Given the description of an element on the screen output the (x, y) to click on. 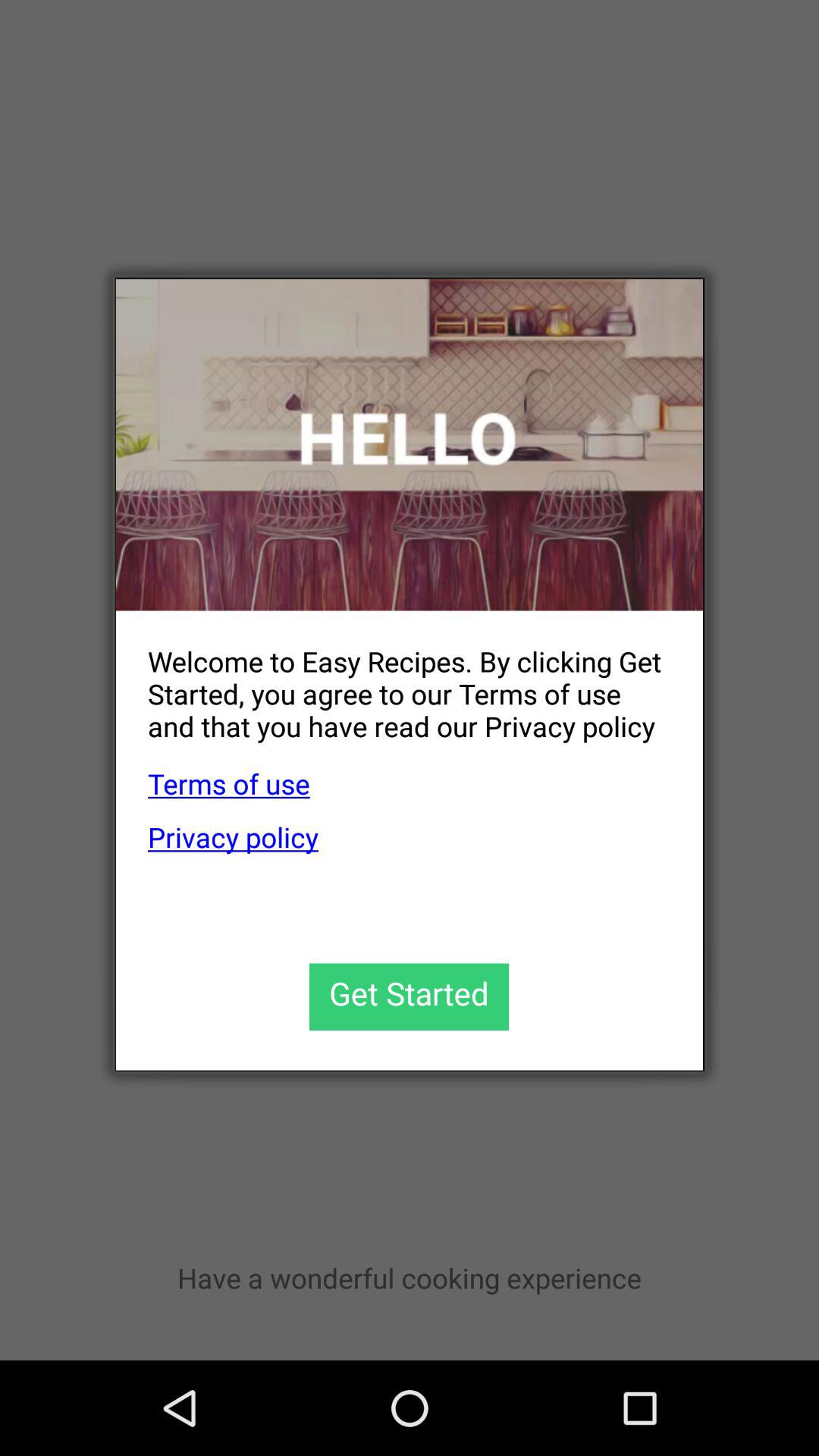
select icon below the privacy policy item (409, 996)
